Given the description of an element on the screen output the (x, y) to click on. 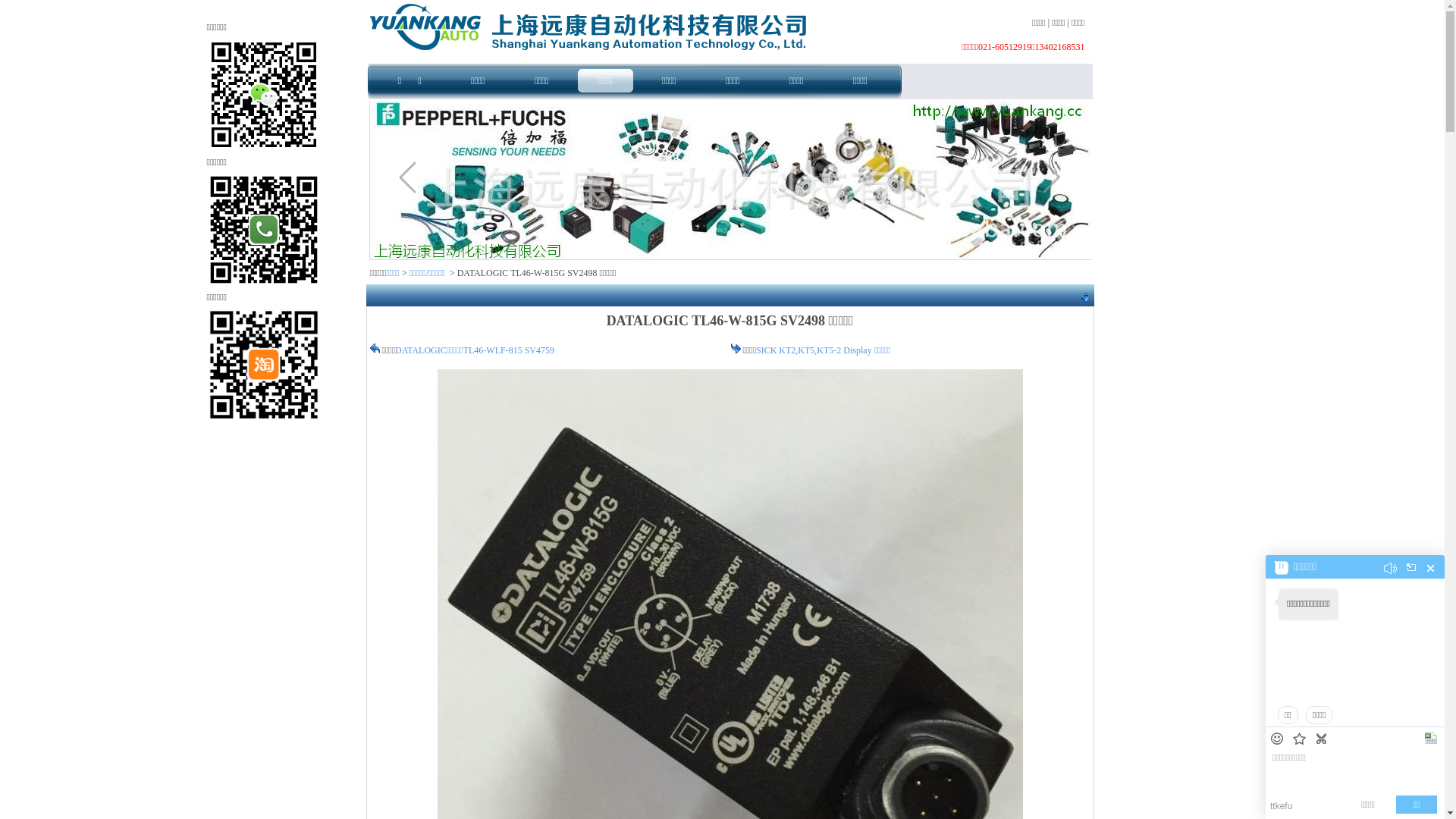
  Element type: text (1430, 567)
  Element type: text (1322, 738)
  Element type: text (1430, 738)
  Element type: text (1278, 738)
  Element type: text (1300, 740)
